Given the description of an element on the screen output the (x, y) to click on. 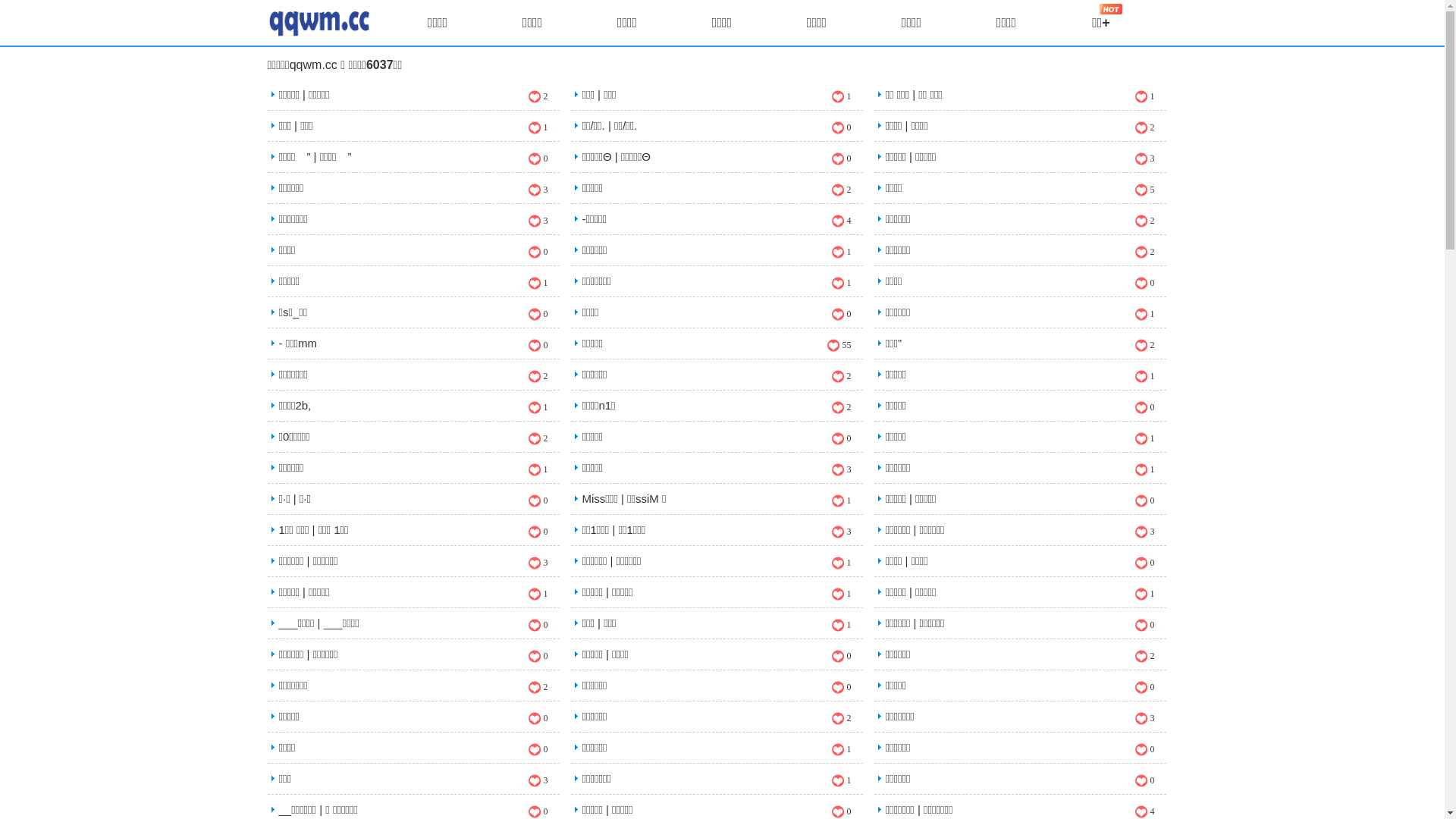
3 Element type: text (840, 531)
0 Element type: text (537, 749)
1 Element type: text (840, 500)
1 Element type: text (840, 780)
4 Element type: text (840, 220)
1 Element type: text (1144, 438)
1 Element type: text (537, 407)
0 Element type: text (840, 686)
2 Element type: text (1144, 127)
0 Element type: text (537, 655)
0 Element type: text (840, 438)
2 Element type: text (1144, 344)
1 Element type: text (840, 593)
3 Element type: text (1144, 531)
0 Element type: text (840, 811)
1 Element type: text (1144, 469)
1 Element type: text (1144, 593)
0 Element type: text (537, 344)
1 Element type: text (1144, 96)
1 Element type: text (1144, 376)
2 Element type: text (840, 376)
3 Element type: text (537, 189)
2 Element type: text (537, 376)
2 Element type: text (537, 96)
0 Element type: text (1144, 500)
0 Element type: text (1144, 780)
3 Element type: text (537, 220)
3 Element type: text (537, 780)
0 Element type: text (537, 500)
0 Element type: text (1144, 624)
3 Element type: text (840, 469)
55 Element type: text (838, 344)
0 Element type: text (1144, 686)
0 Element type: text (1144, 562)
3 Element type: text (537, 562)
2 Element type: text (840, 718)
1 Element type: text (537, 282)
1 Element type: text (1144, 313)
qqwm.cc Element type: text (313, 64)
1 Element type: text (537, 593)
1 Element type: text (840, 624)
0 Element type: text (537, 313)
0 Element type: text (537, 624)
2 Element type: text (1144, 220)
1 Element type: text (840, 282)
0 Element type: text (537, 531)
2 Element type: text (537, 438)
5 Element type: text (1144, 189)
3 Element type: text (1144, 718)
0 Element type: text (537, 251)
3 Element type: text (1144, 158)
1 Element type: text (840, 251)
1 Element type: text (537, 127)
0 Element type: text (840, 655)
0 Element type: text (537, 811)
0 Element type: text (840, 127)
0 Element type: text (537, 718)
2 Element type: text (840, 407)
2 Element type: text (840, 189)
0 Element type: text (1144, 407)
0 Element type: text (840, 158)
2 Element type: text (1144, 251)
0 Element type: text (537, 158)
0 Element type: text (1144, 749)
2 Element type: text (537, 686)
2 Element type: text (1144, 655)
0 Element type: text (1144, 282)
4 Element type: text (1144, 811)
1 Element type: text (840, 96)
1 Element type: text (840, 562)
0 Element type: text (840, 313)
1 Element type: text (537, 469)
1 Element type: text (840, 749)
